Given the description of an element on the screen output the (x, y) to click on. 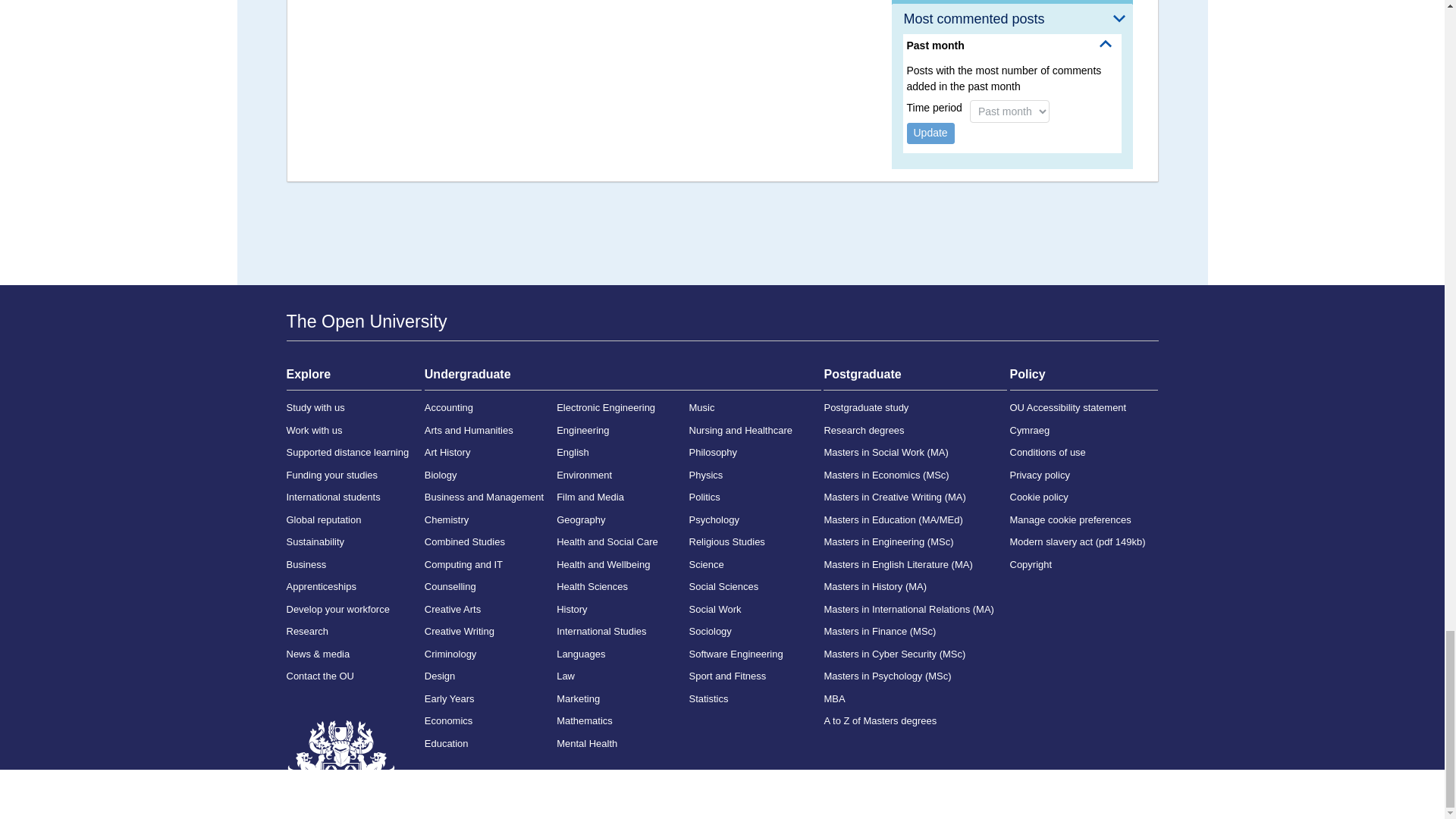
Hide options (1105, 43)
Blog usage (1011, 2)
Update (931, 133)
